Given the description of an element on the screen output the (x, y) to click on. 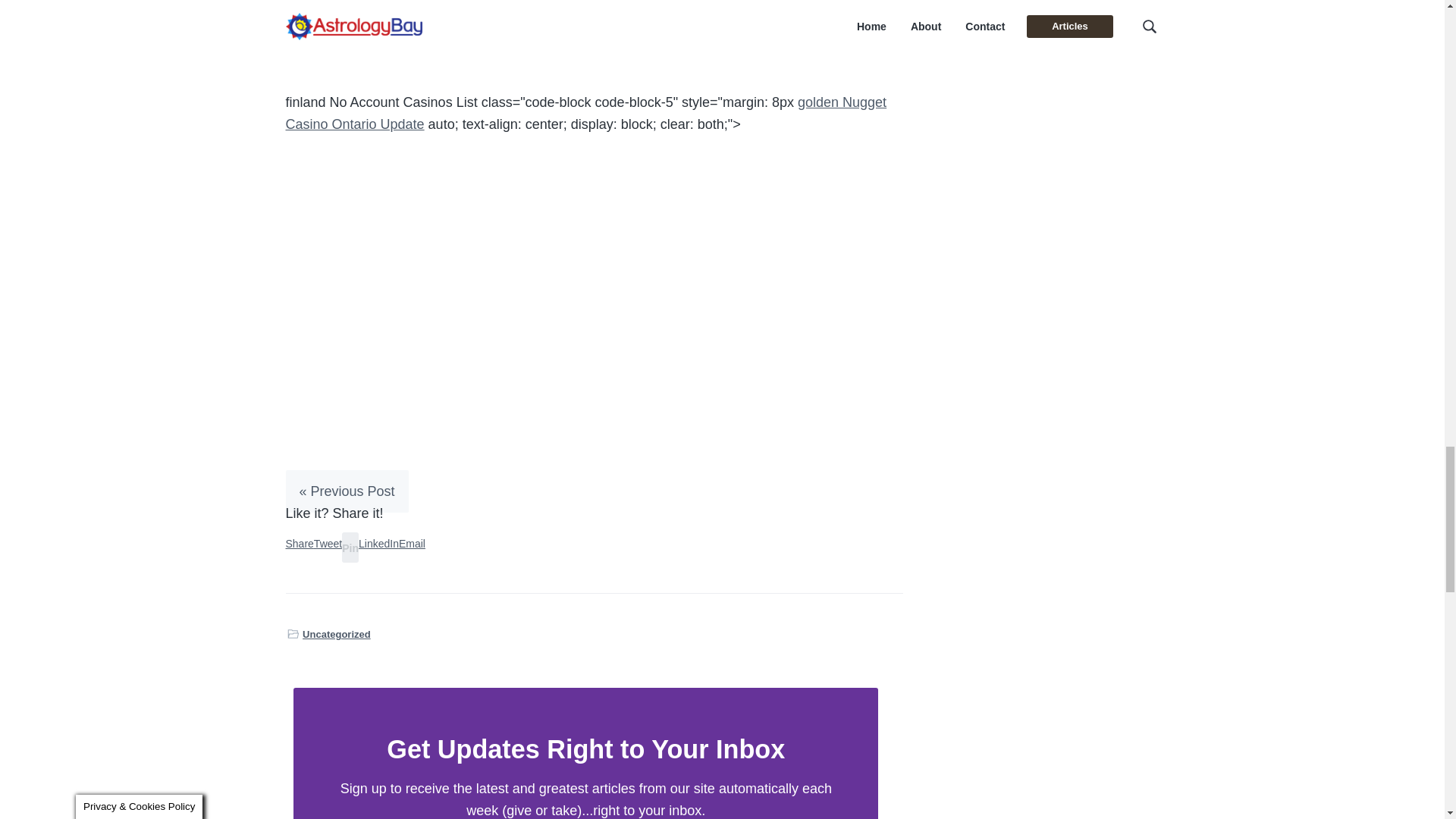
LinkedIn (378, 543)
Golden Nugget Casino Ontario Update (585, 113)
History Of Betmgm Online Casino (387, 17)
Tweet (328, 543)
Share (299, 543)
Postepay Online Casinos Review (385, 1)
Uncategorized (336, 634)
Share on Facebook (299, 543)
Postepay Online Casinos Review (385, 1)
Pin (350, 547)
History Of Betmgm Online Casino (387, 17)
Email (411, 543)
Signing Up At Paypal Casino Sites (389, 38)
Signing Up At Paypal Casino Sites (389, 38)
